Given the description of an element on the screen output the (x, y) to click on. 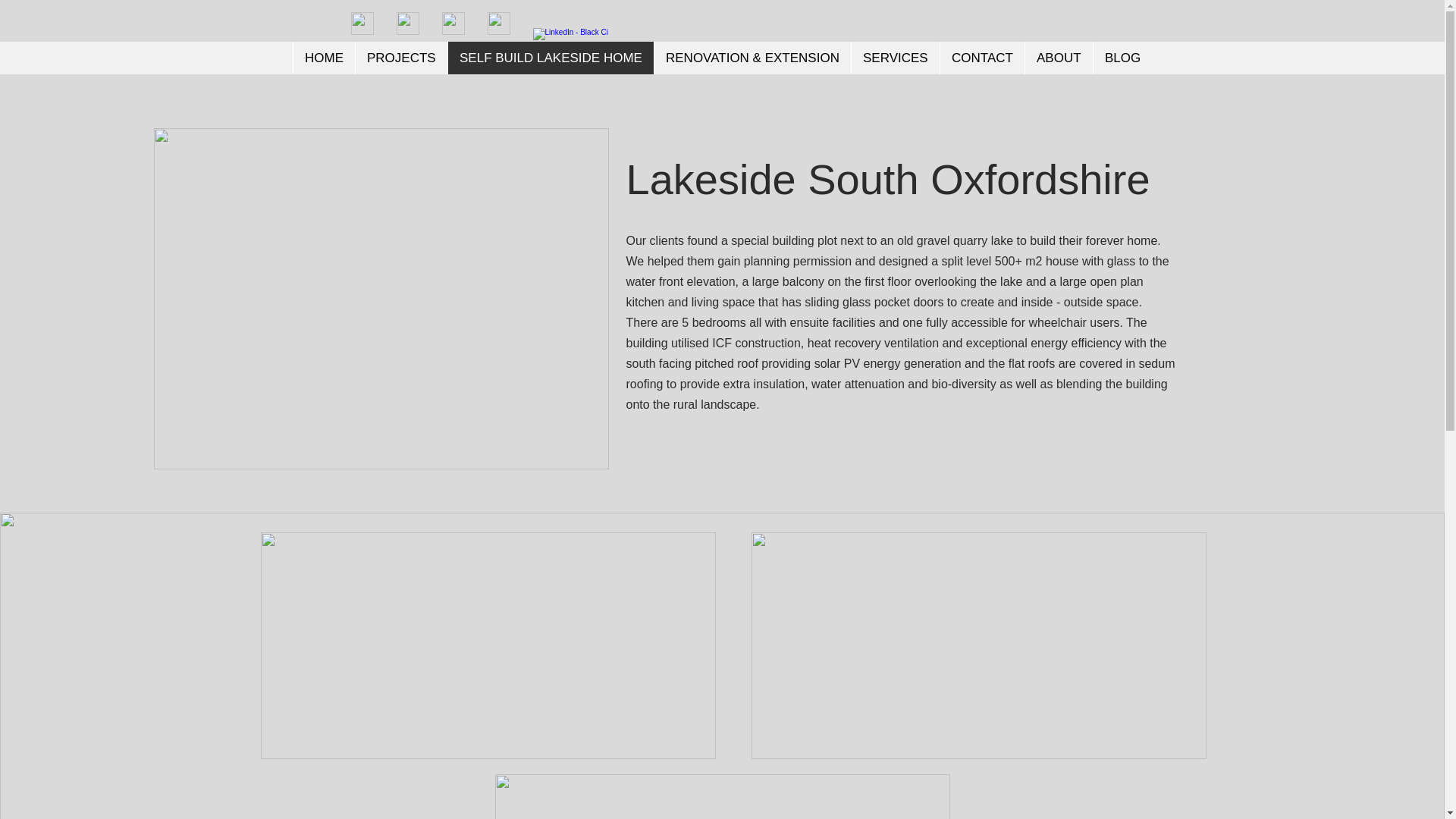
SERVICES (894, 57)
BLOG (1122, 57)
PROJECTS (400, 57)
ABOUT (1059, 57)
Design 2 RAMAGE C.jpg (722, 796)
CONTACT (982, 57)
HOME (323, 57)
SELF BUILD LAKESIDE HOME (549, 57)
Design 2 RAMAGE.jpg (978, 645)
Design 2 RAMAGE B.jpg (488, 645)
